Given the description of an element on the screen output the (x, y) to click on. 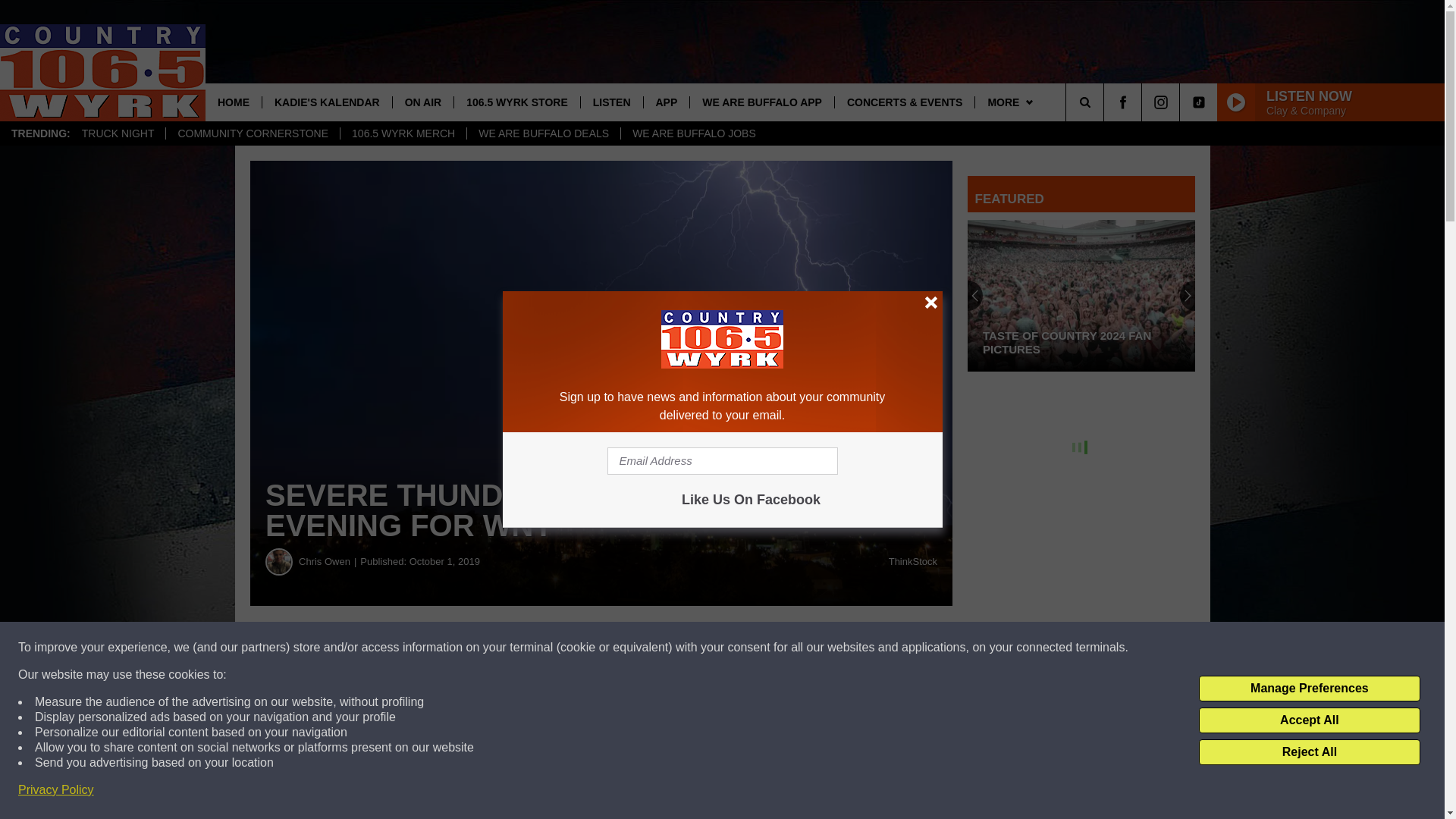
APP (666, 102)
KADIE'S KALENDAR (326, 102)
SEARCH (1106, 102)
COMMUNITY CORNERSTONE (252, 133)
Reject All (1309, 751)
SEARCH (1106, 102)
Accept All (1309, 720)
Manage Preferences (1309, 688)
WE ARE BUFFALO APP (761, 102)
Privacy Policy (55, 789)
LISTEN (611, 102)
Share on Facebook (600, 647)
WE ARE BUFFALO JOBS (693, 133)
Email Address (722, 461)
ON AIR (421, 102)
